Given the description of an element on the screen output the (x, y) to click on. 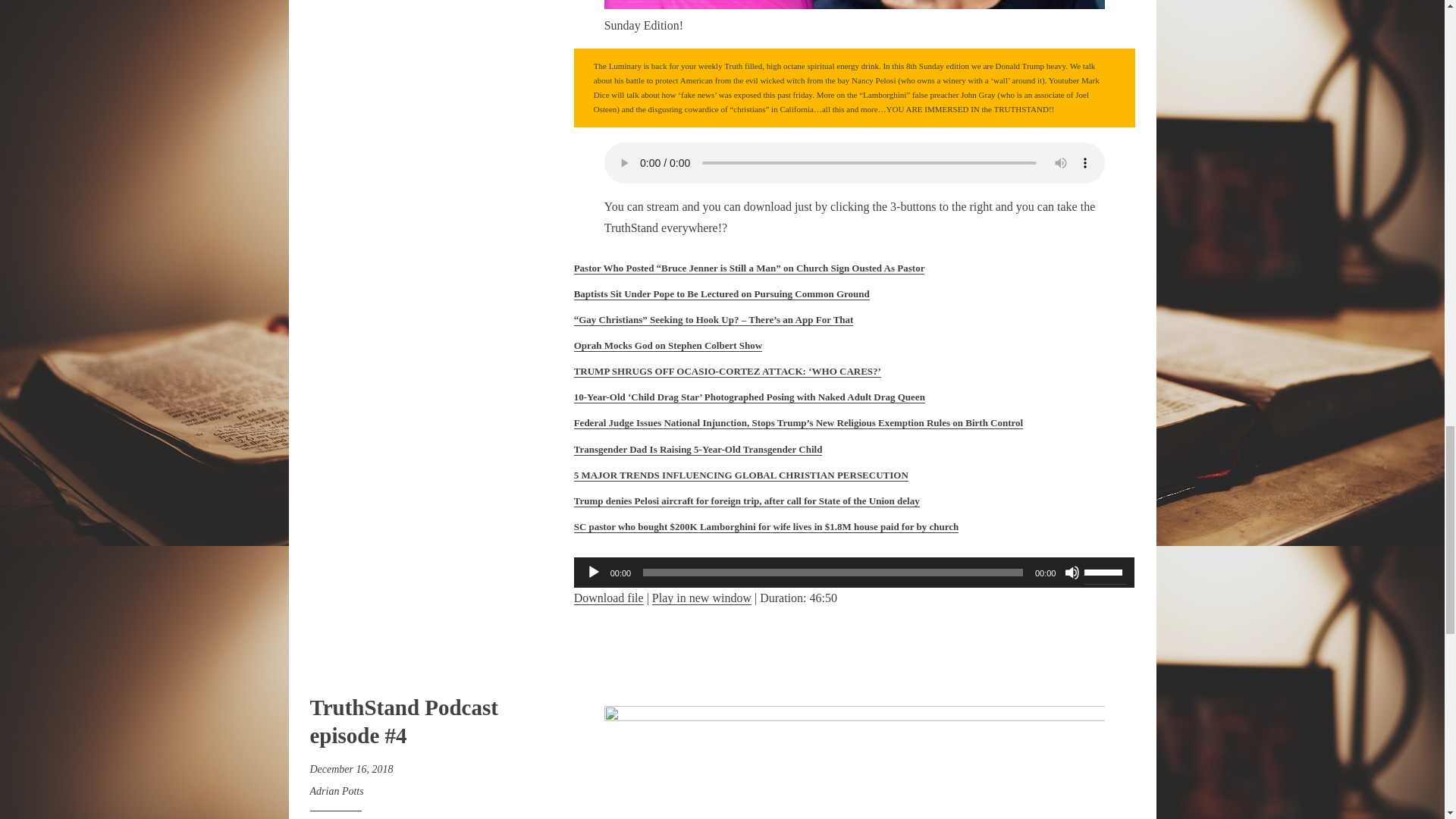
Mute (1072, 572)
5 MAJOR TRENDS INFLUENCING GLOBAL CHRISTIAN PERSECUTION (740, 475)
December 16, 2018 (350, 768)
Oprah Mocks God on Stephen Colbert Show (667, 345)
Play (593, 572)
Download file (608, 598)
Transgender Dad Is Raising 5-Year-Old Transgender Child (697, 449)
Adrian Potts (335, 790)
Play in new window (701, 598)
